Given the description of an element on the screen output the (x, y) to click on. 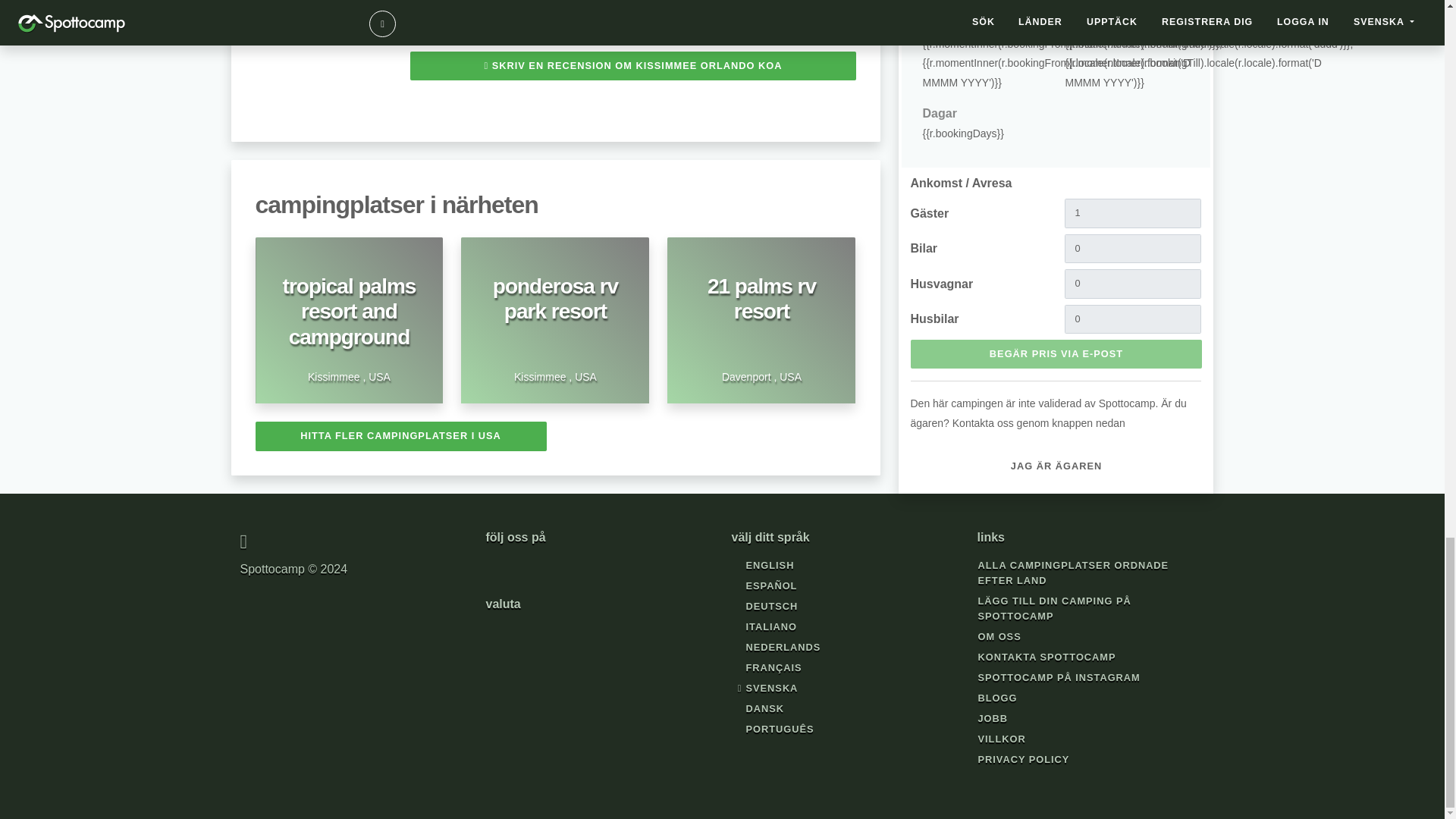
HITTA FLER CAMPINGPLATSER I USA (555, 320)
SKRIV EN RECENSION OM KISSIMMEE ORLANDO KOA (400, 435)
